Given the description of an element on the screen output the (x, y) to click on. 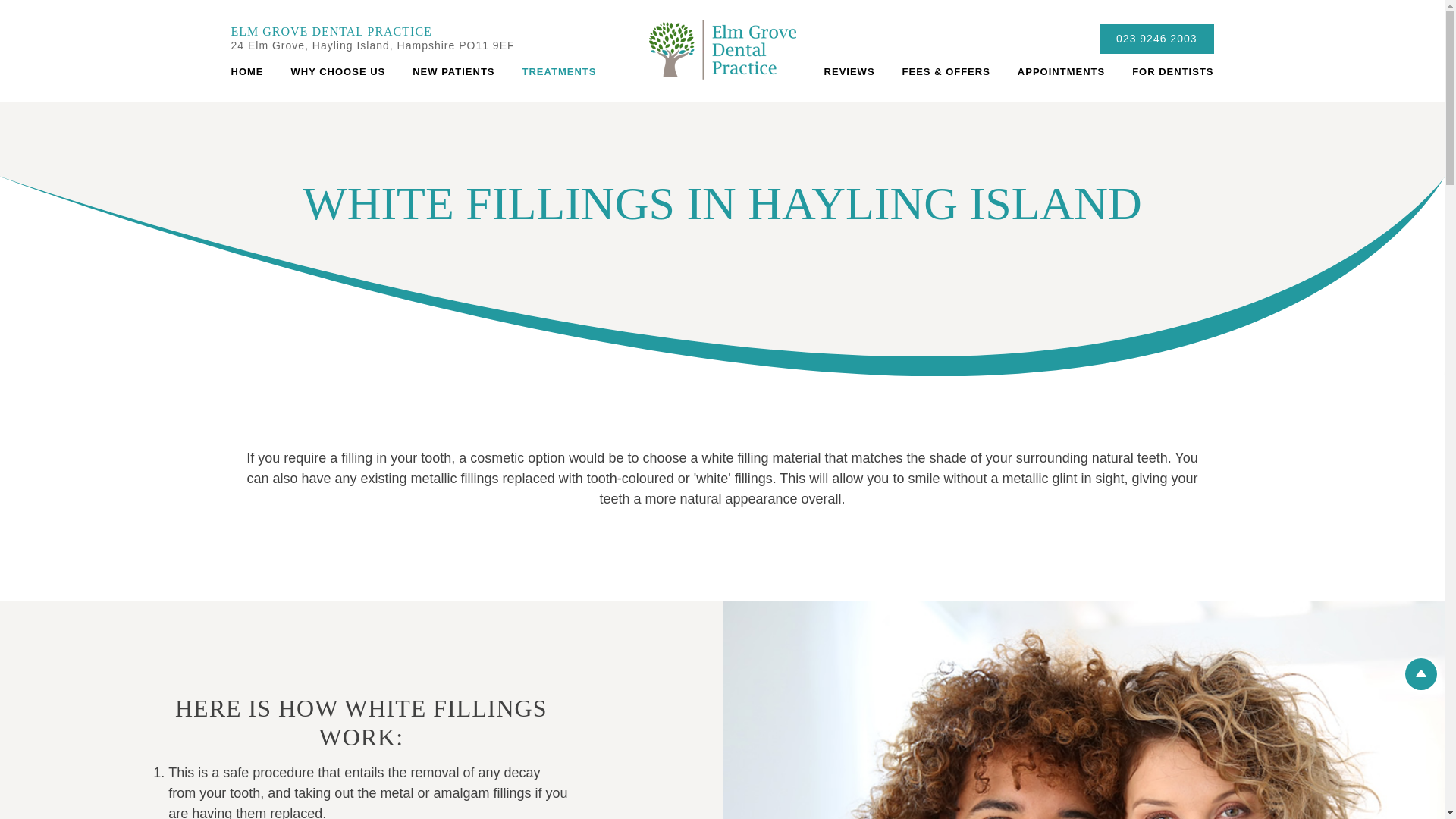
Why Choose Us (338, 72)
Reviews (849, 72)
New Patients (453, 72)
WHY CHOOSE US (338, 72)
TREATMENTS (559, 72)
FOR DENTISTS (1165, 72)
023 9246 2003 (1155, 39)
Click to Top (1421, 674)
Appointments (1061, 72)
NEW PATIENTS (453, 72)
Home (253, 72)
For Dentists (1165, 72)
Treatments (559, 72)
REVIEWS (849, 72)
HOME (253, 72)
